Given the description of an element on the screen output the (x, y) to click on. 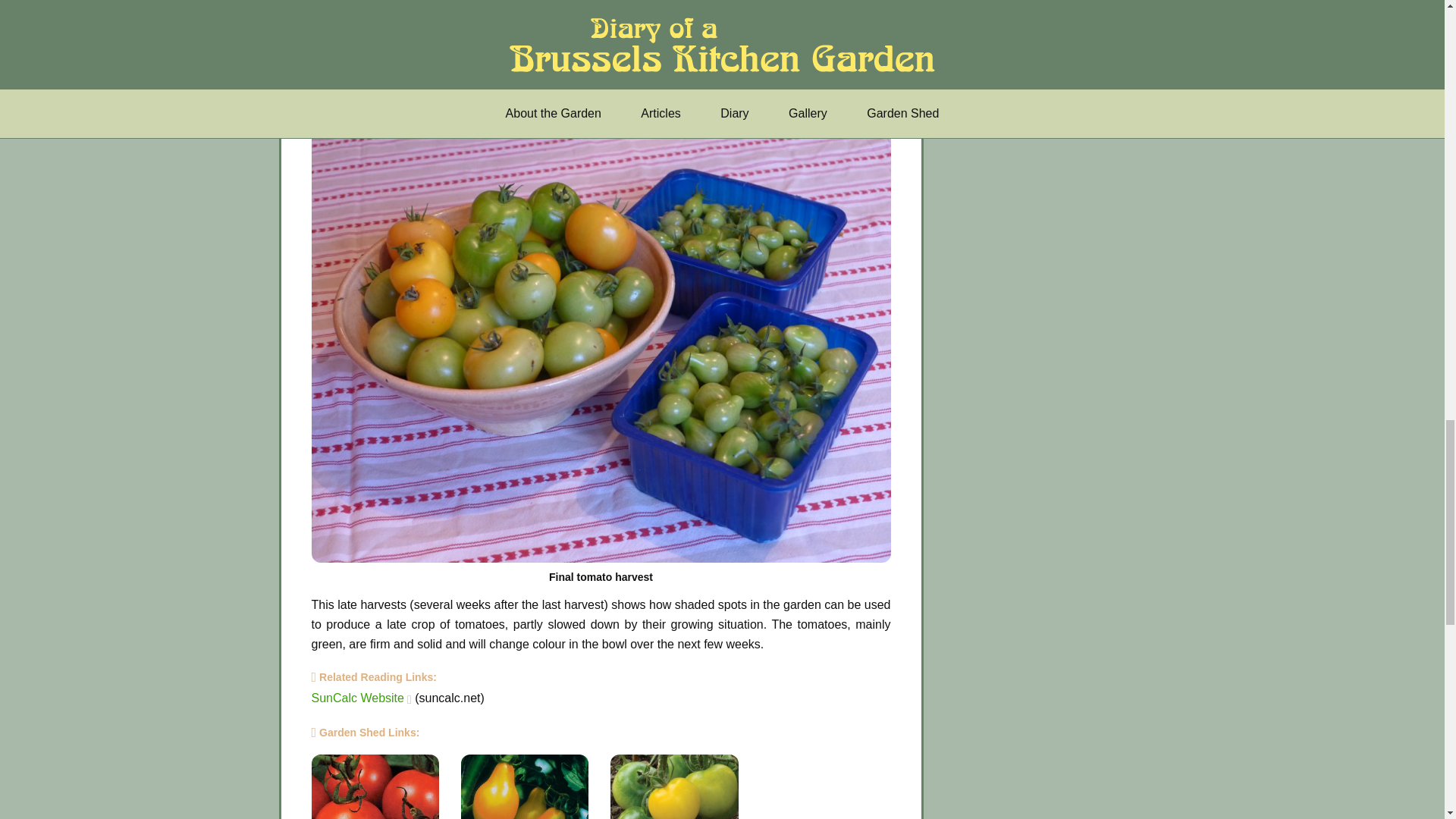
Tomato Yellow Perfection (674, 786)
Tomato Alicante (374, 786)
Tomato Yellow Pear (524, 786)
SunCalc Website (357, 697)
SunCalc Website (357, 697)
